Given the description of an element on the screen output the (x, y) to click on. 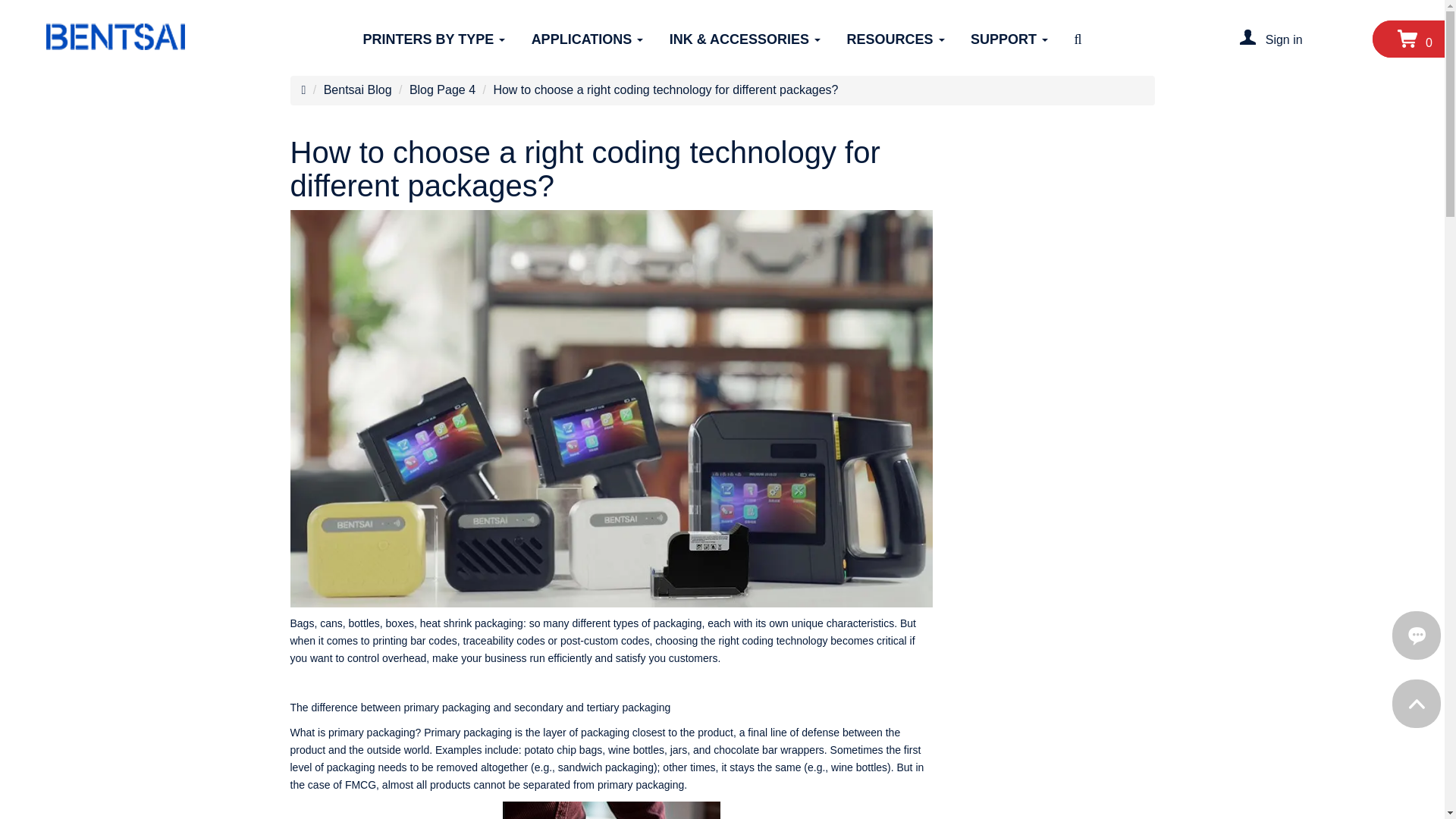
Bentsaishop (115, 36)
RESOURCES (895, 38)
Blog Page 4 (442, 89)
APPLICATIONS (587, 38)
Sign in (1283, 39)
SUPPORT (1009, 38)
Bentsai Blog (357, 89)
PRINTERS BY TYPE (433, 38)
